Given the description of an element on the screen output the (x, y) to click on. 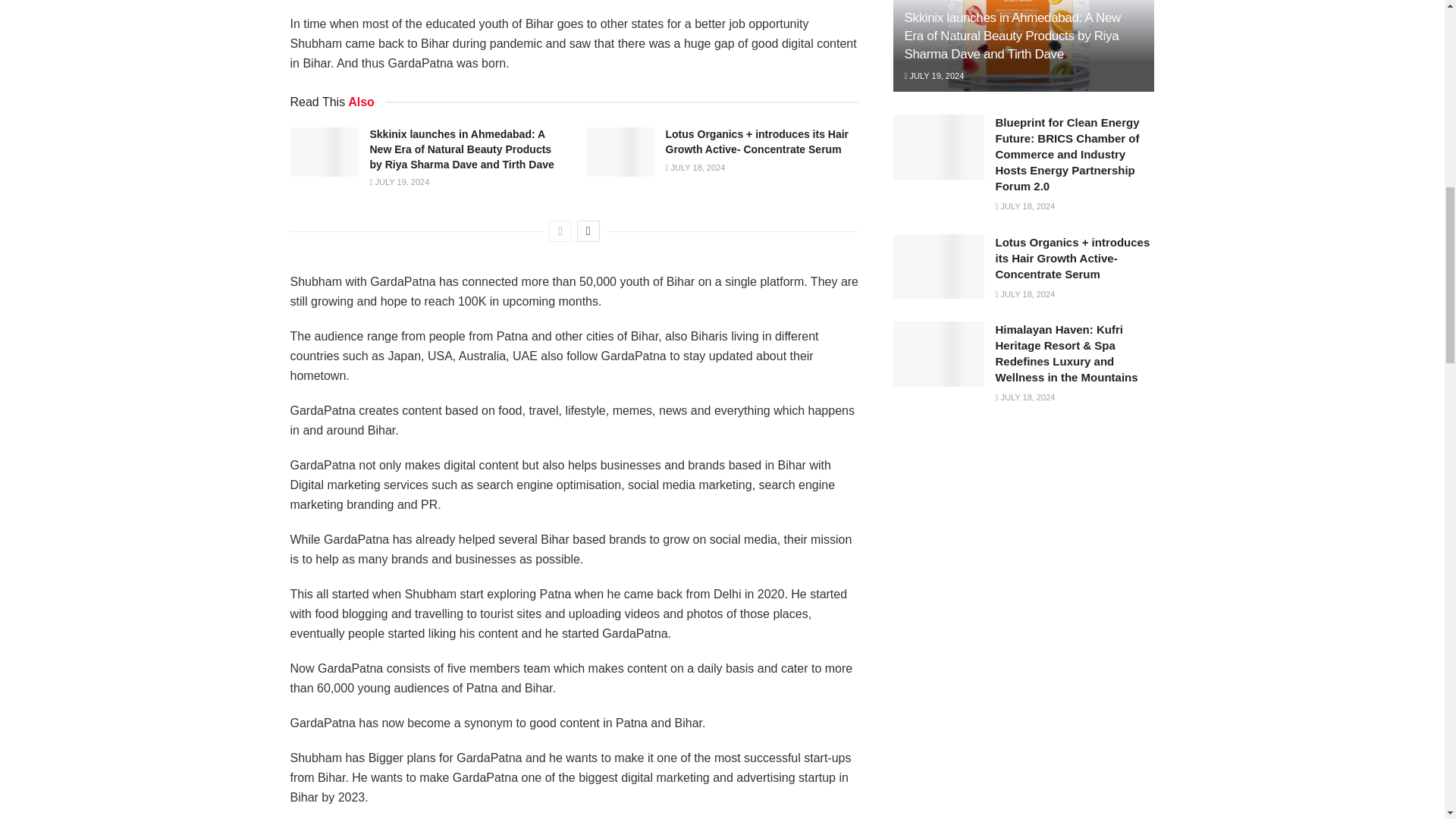
Previous (560, 230)
Next (587, 230)
